Given the description of an element on the screen output the (x, y) to click on. 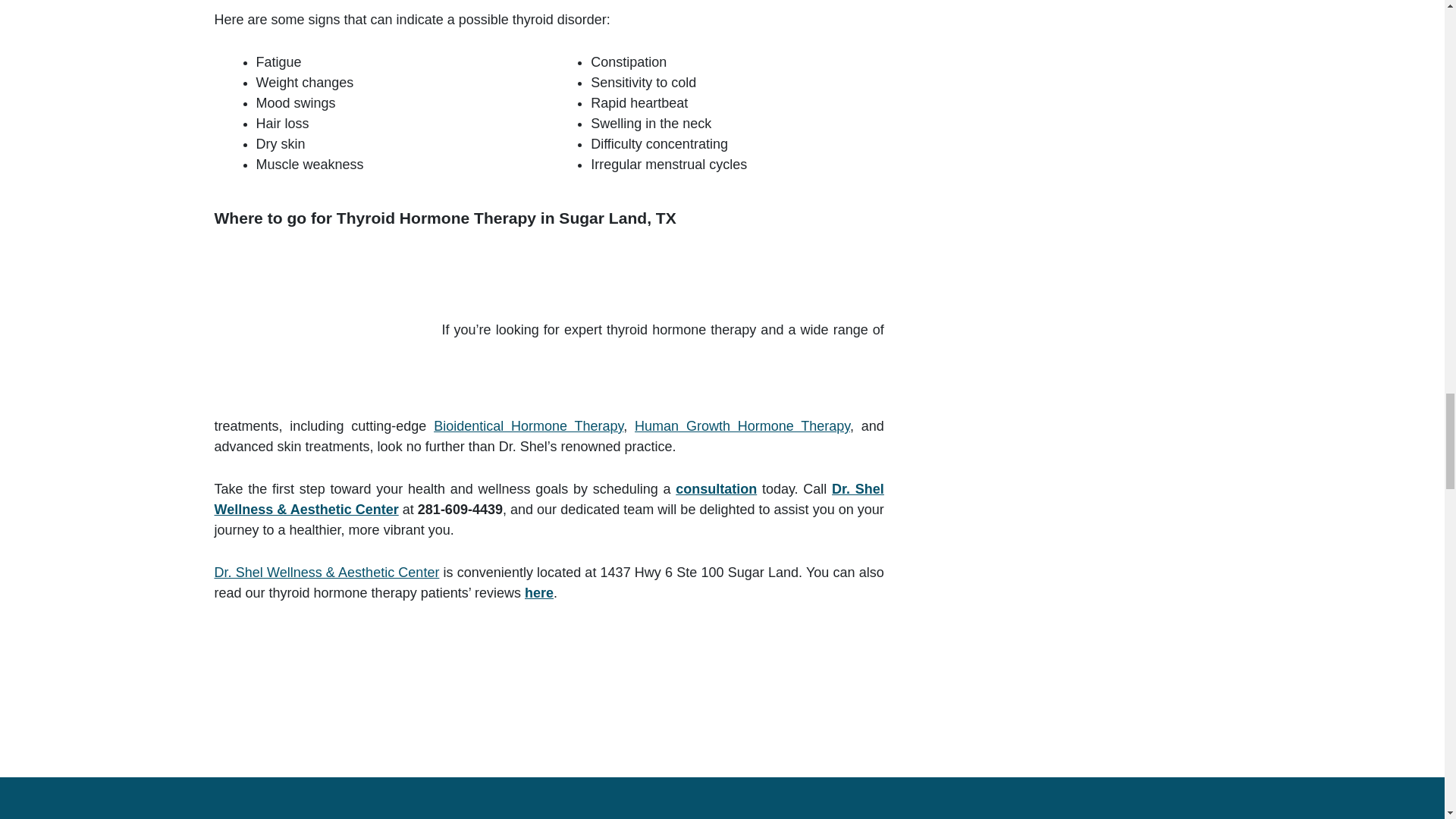
Thyroid Hormone Therapy Sugar Land TX (327, 330)
Human Growth Hormone Therapy Sugar Land TX (742, 426)
Bioidentical Hormone Therapy Sugar Land TX (528, 426)
